Given the description of an element on the screen output the (x, y) to click on. 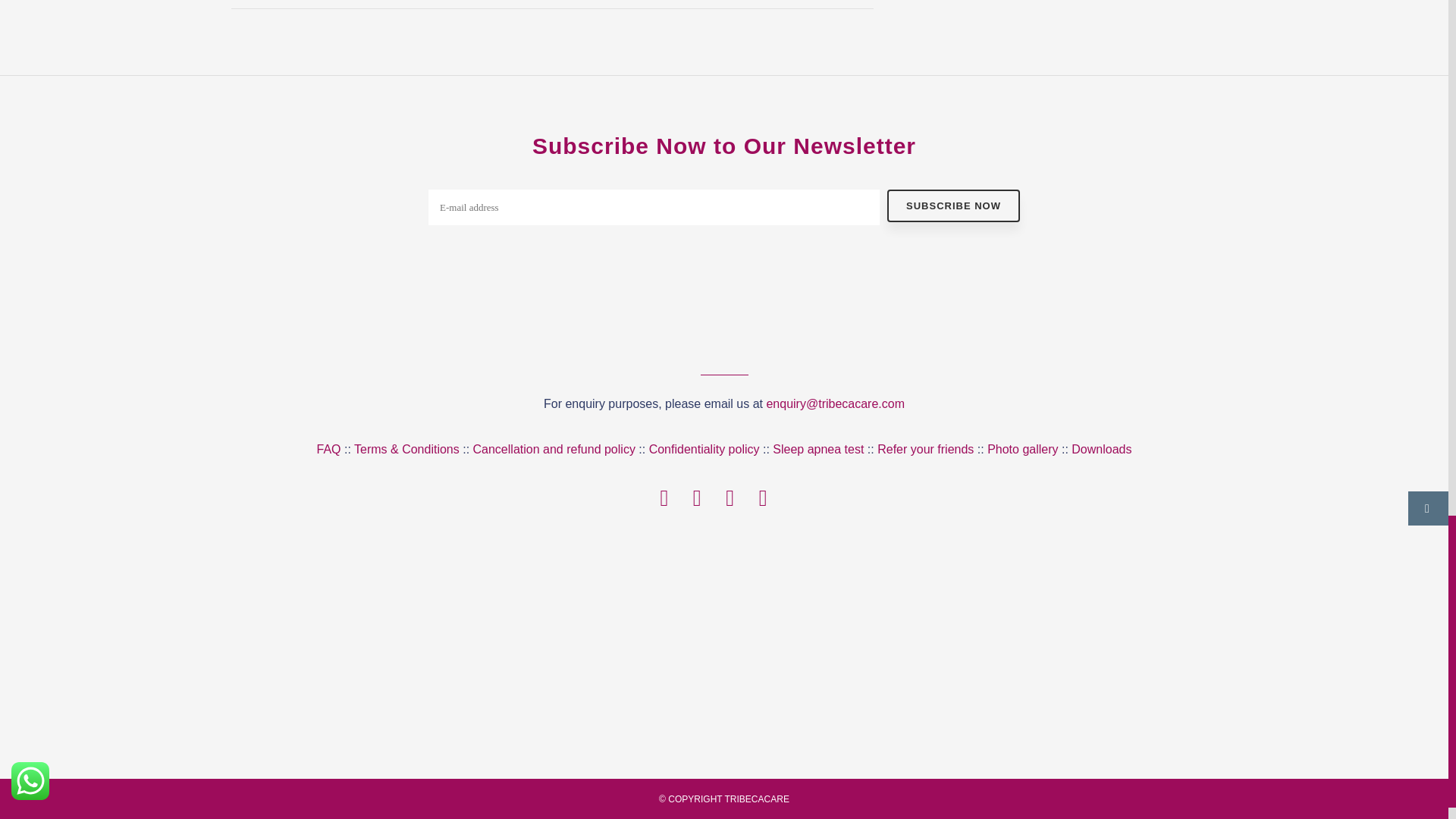
Subscribe now (953, 205)
